Given the description of an element on the screen output the (x, y) to click on. 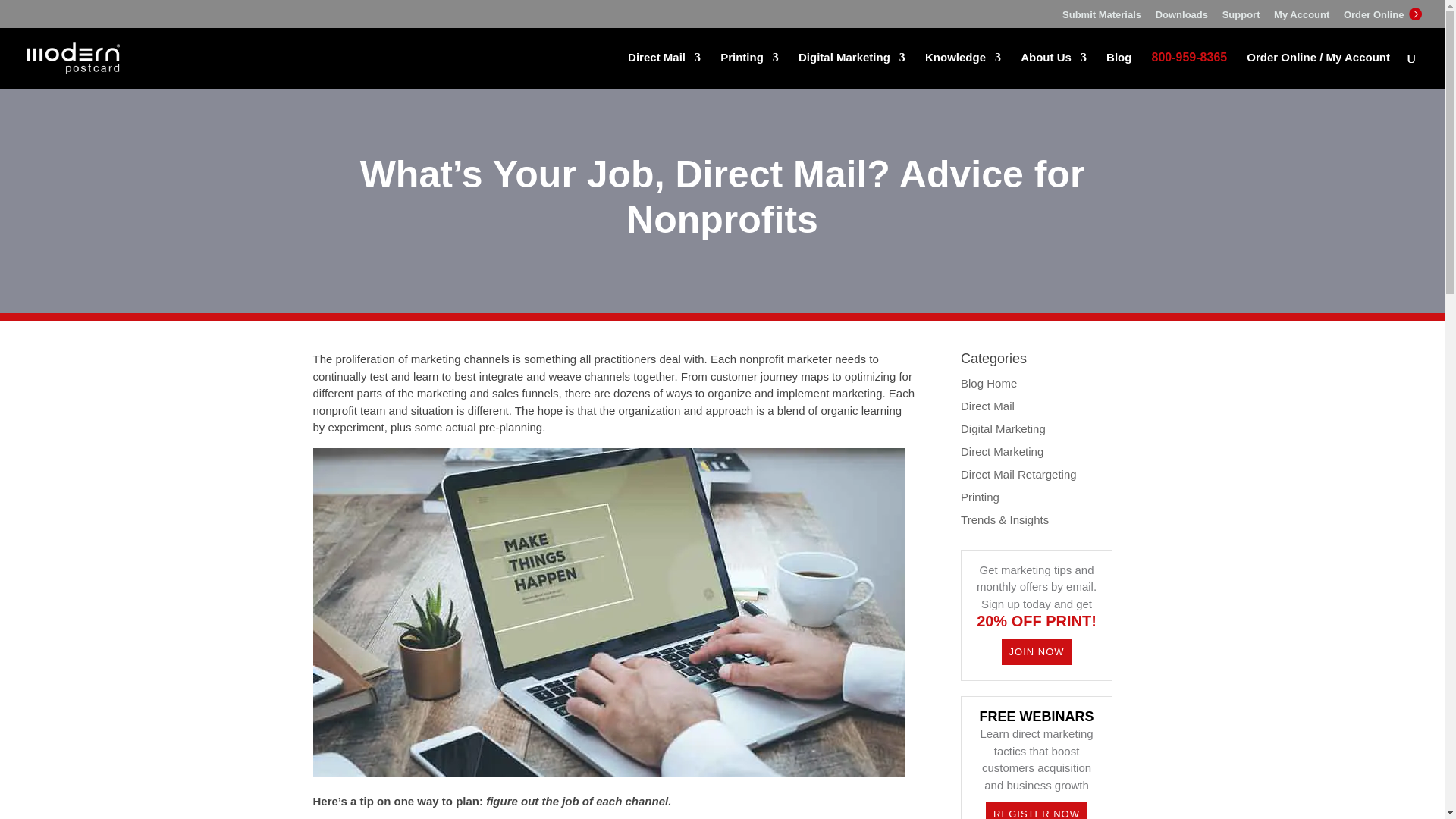
REGISTER NOW (1036, 810)
Support (1241, 18)
Direct Mail (663, 69)
Downloads (1182, 18)
Order Online (1382, 17)
Printing (749, 69)
Order Online (1414, 13)
Submit Materials (1101, 18)
JOIN NOW (1036, 652)
My Account (1301, 18)
